Given the description of an element on the screen output the (x, y) to click on. 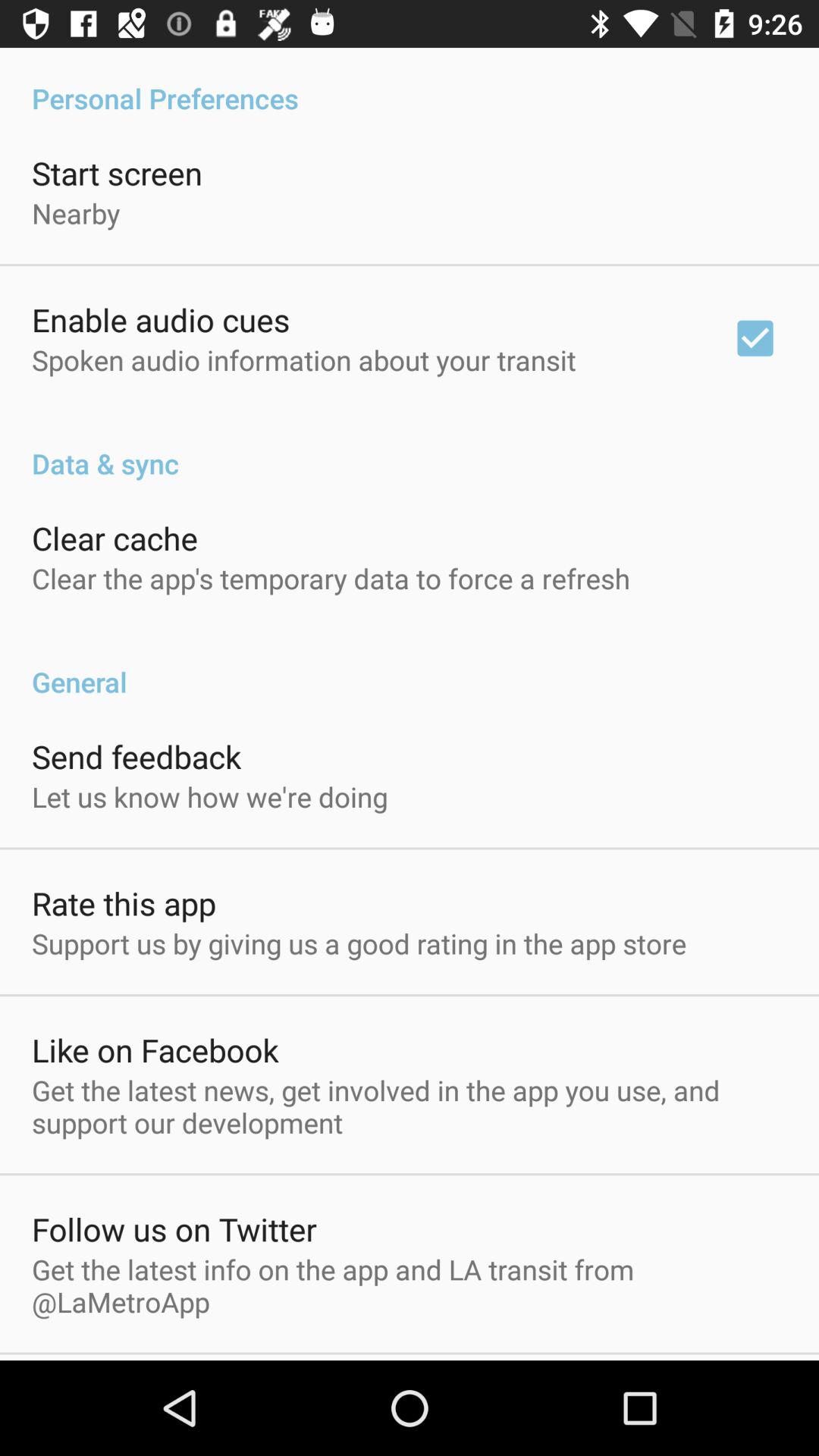
choose the app above support us by icon (123, 902)
